Given the description of an element on the screen output the (x, y) to click on. 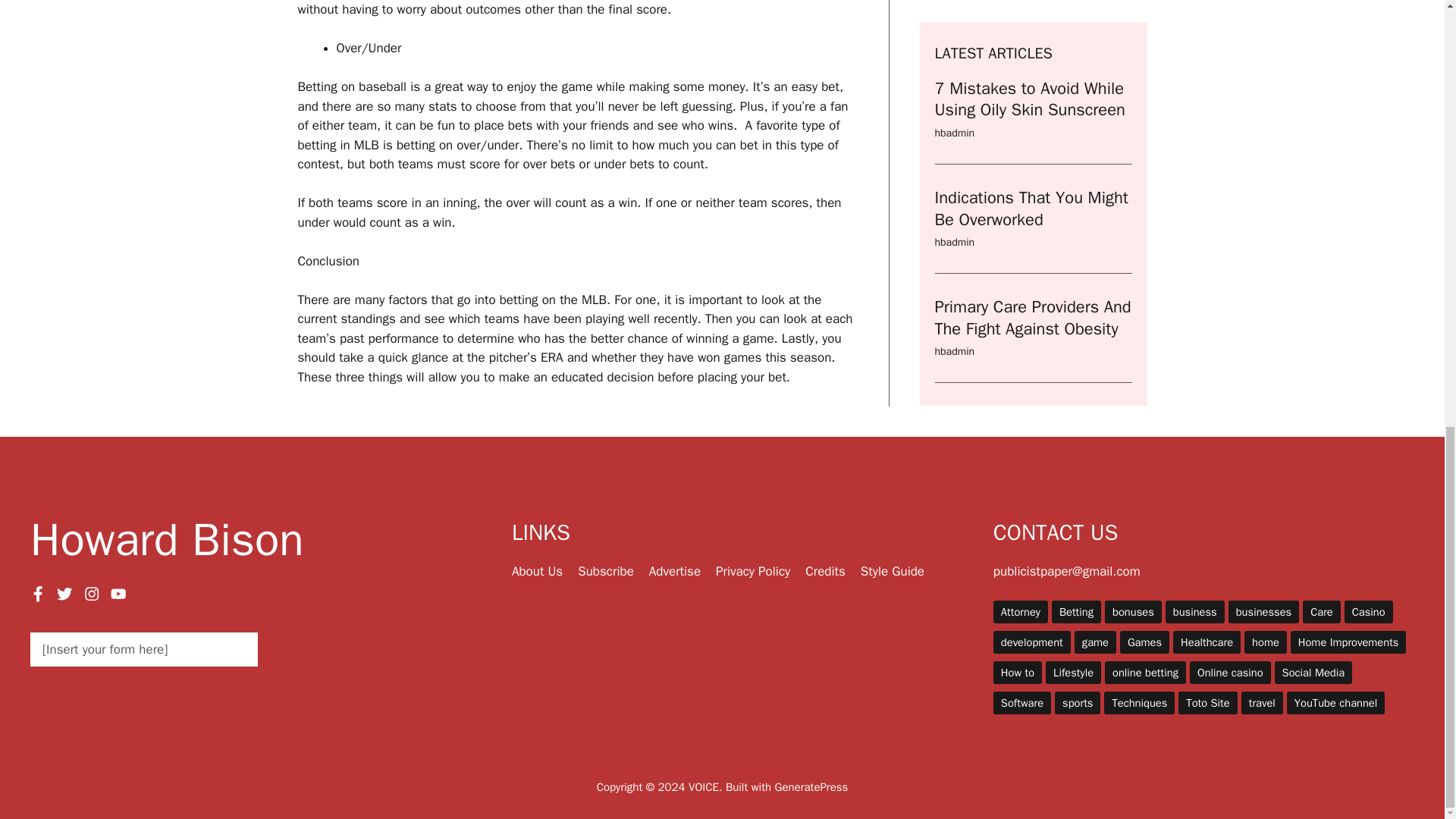
game (1095, 641)
Credits (825, 571)
Care (1321, 611)
Privacy Policy (753, 571)
Games (1144, 641)
Subscribe (605, 571)
Attorney (1020, 611)
businesses (1263, 611)
business (1195, 611)
Casino (1368, 611)
